Given the description of an element on the screen output the (x, y) to click on. 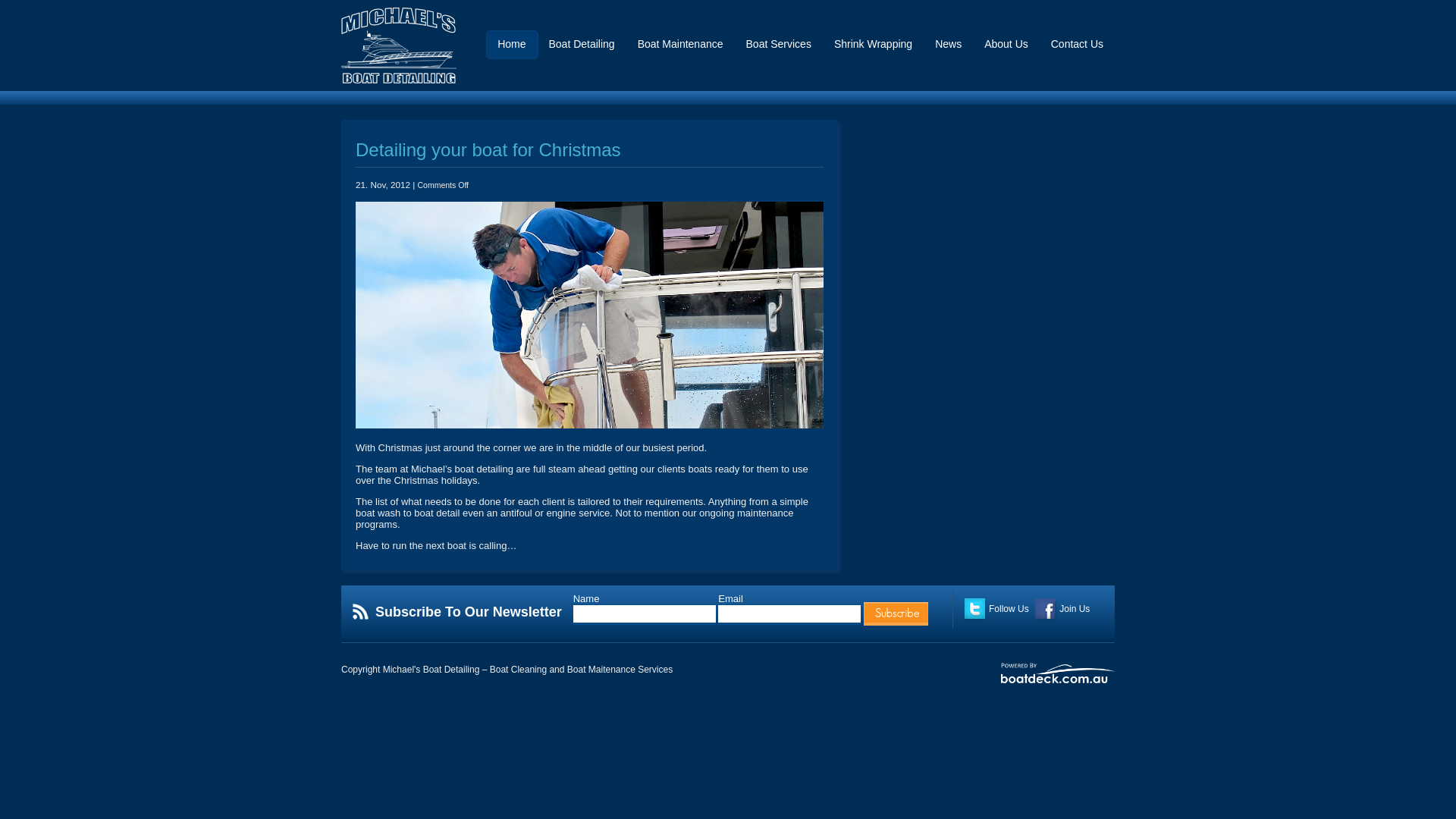
Facebook page Element type: hover (1046, 609)
Boat Services Element type: text (778, 48)
Follow Us Element type: text (996, 608)
Boat Maintenance Element type: text (680, 48)
About Us Element type: text (1006, 48)
News Element type: text (948, 48)
Shrink Wrapping Element type: text (873, 48)
Detailing your boat for Christmas Element type: text (487, 149)
Contact Us Element type: text (1077, 48)
Twitter Page Element type: hover (975, 609)
Home Element type: text (511, 48)
Boat Detailing Element type: text (581, 48)
Join Us Element type: text (1062, 608)
